Given the description of an element on the screen output the (x, y) to click on. 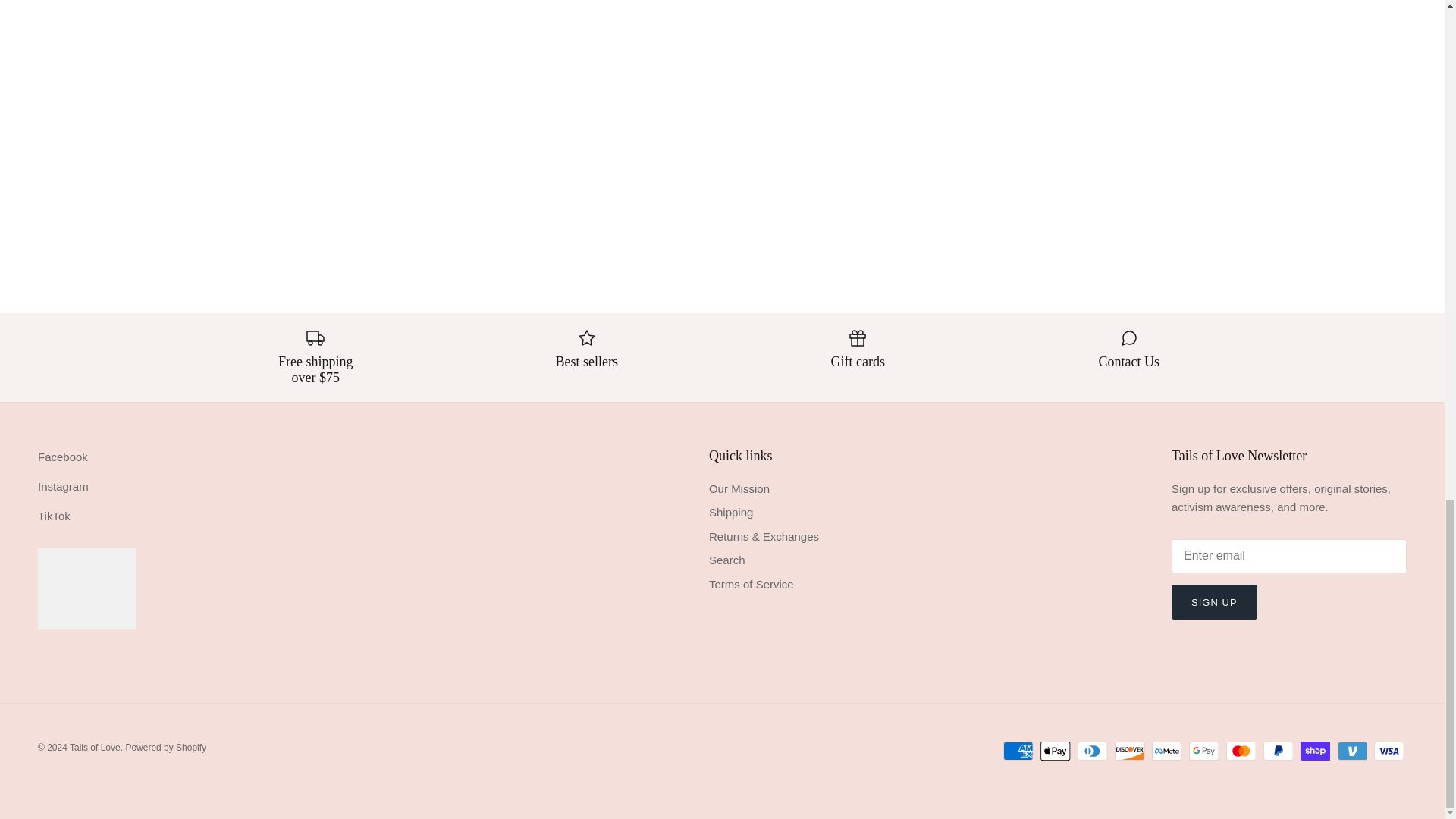
Mastercard (1240, 751)
Venmo (1352, 751)
Google Pay (1203, 751)
Apple Pay (1055, 751)
Visa (1388, 751)
Meta Pay (1166, 751)
American Express (1018, 751)
PayPal (1277, 751)
Shop Pay (1315, 751)
Discover (1129, 751)
